Given the description of an element on the screen output the (x, y) to click on. 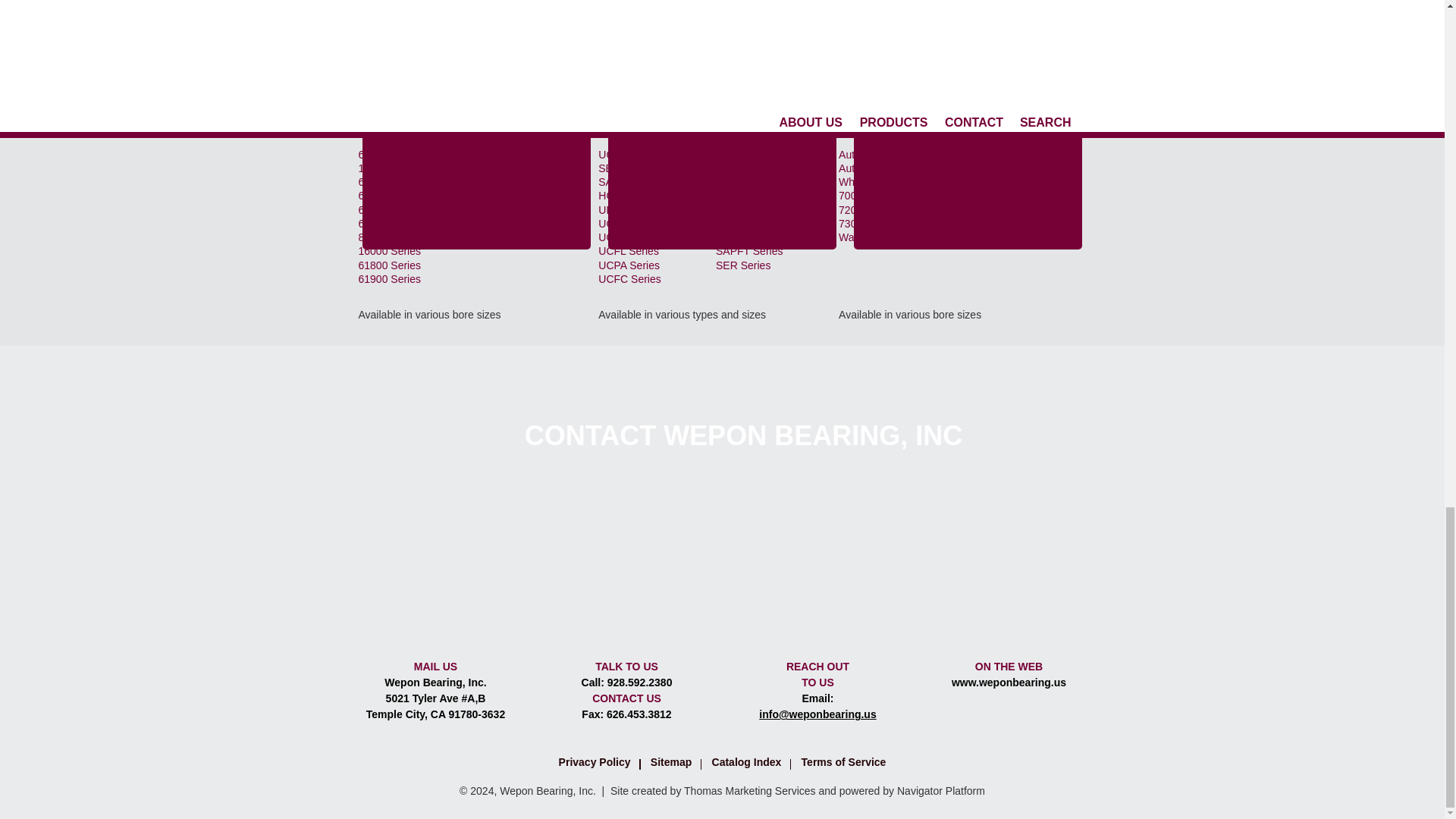
16000 Series (389, 250)
RLS Series (502, 209)
61900 Series (389, 278)
RMS Series (504, 223)
6000 Series (386, 182)
Talk To Us (626, 590)
6400 Series (386, 223)
R Series (496, 182)
87000 Series (507, 153)
SA Series (621, 182)
